Given the description of an element on the screen output the (x, y) to click on. 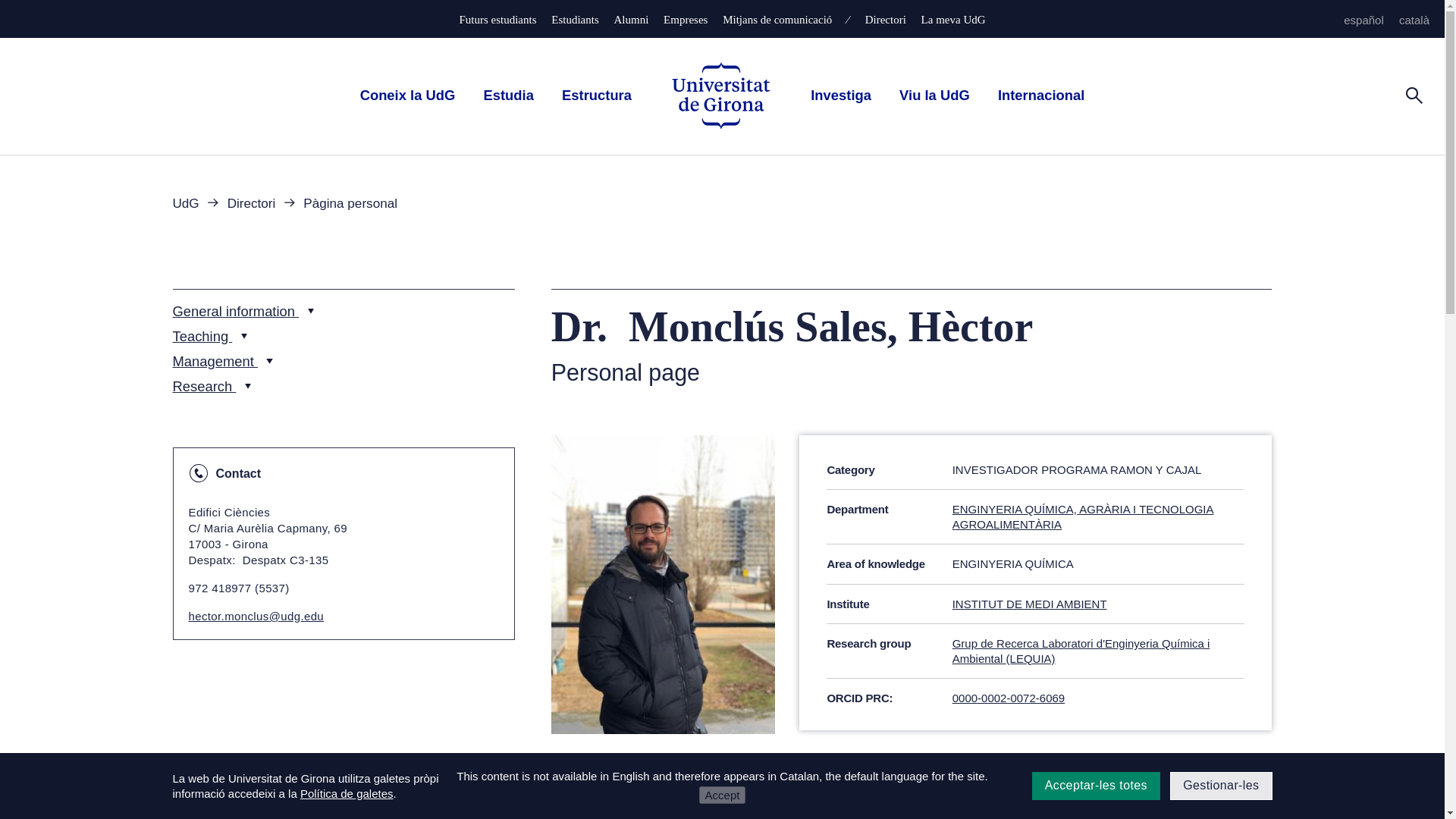
Futurs estudiants (496, 19)
La meva UdG (953, 19)
Estudiants (574, 19)
Accept (721, 794)
Coneix la UdG (407, 94)
Directori (884, 19)
UdG Home (720, 95)
Alumni (631, 19)
Empreses (685, 19)
